Given the description of an element on the screen output the (x, y) to click on. 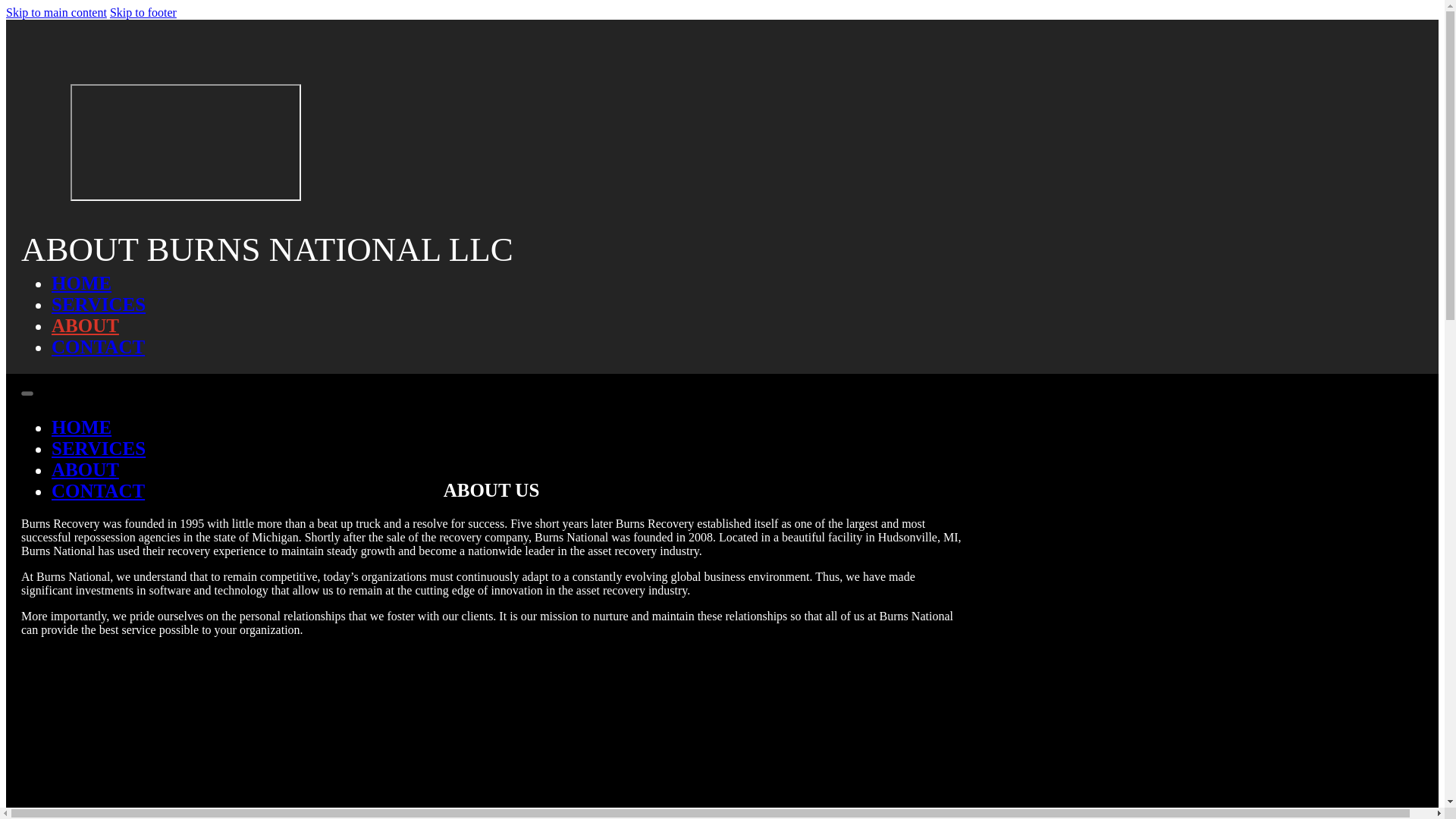
SERVICES (97, 448)
HOME (81, 282)
Skip to footer (143, 11)
ABOUT (84, 469)
SERVICES (97, 304)
ABOUT (84, 325)
CONTACT (97, 490)
CONTACT (97, 346)
HOME (81, 426)
Skip to main content (55, 11)
